Given the description of an element on the screen output the (x, y) to click on. 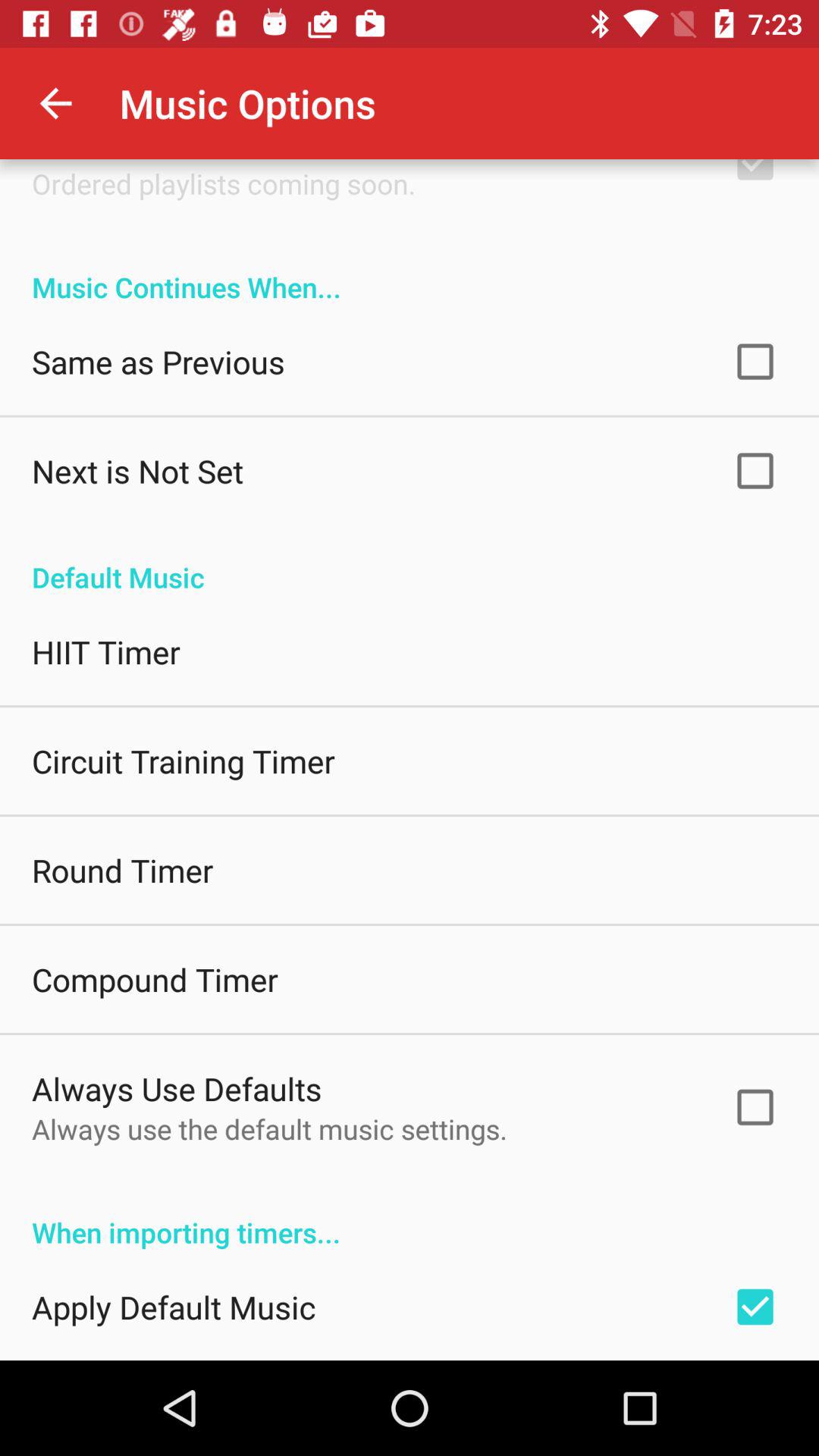
choose the hiit timer item (105, 651)
